Given the description of an element on the screen output the (x, y) to click on. 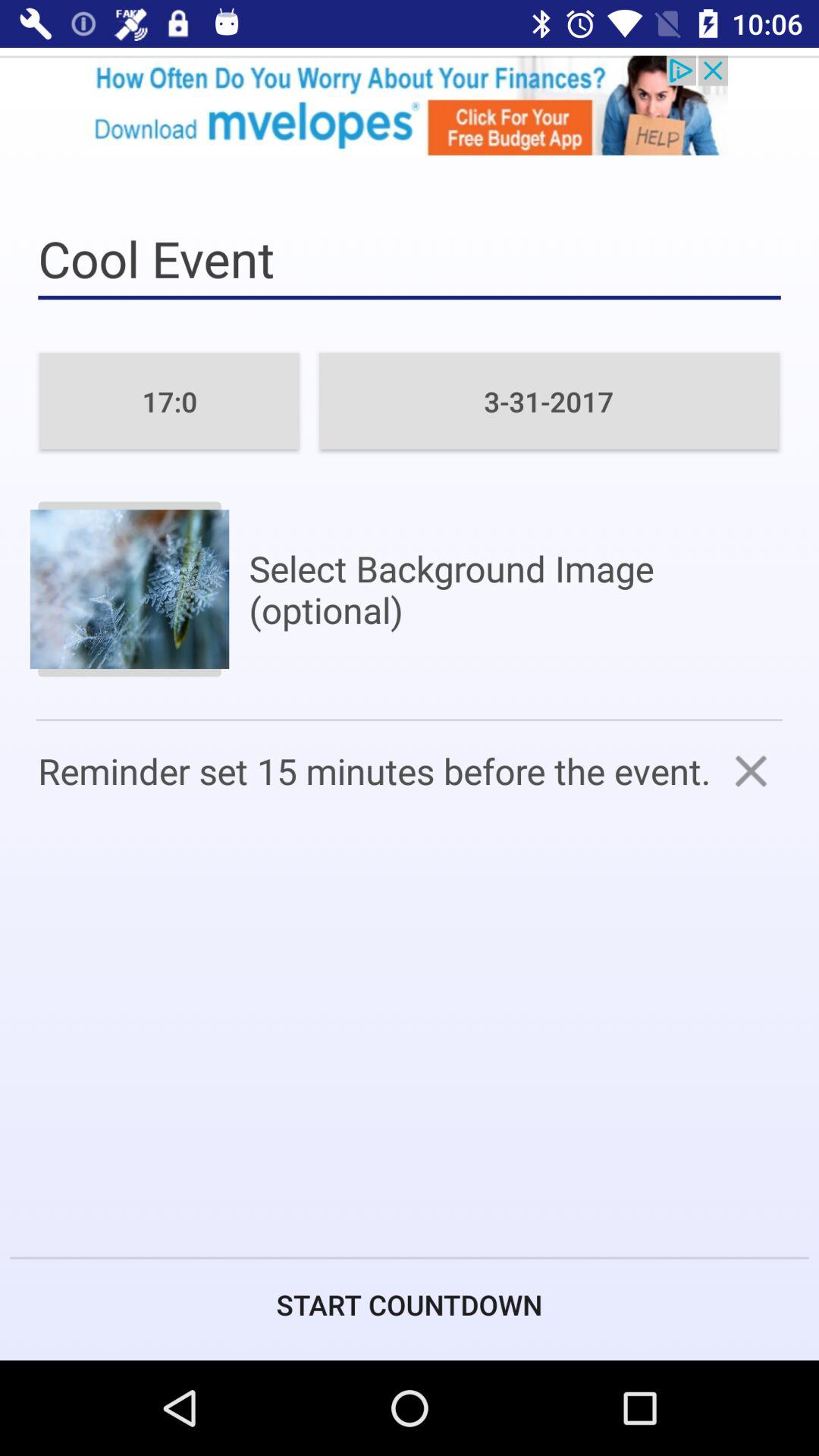
select image (129, 588)
